Given the description of an element on the screen output the (x, y) to click on. 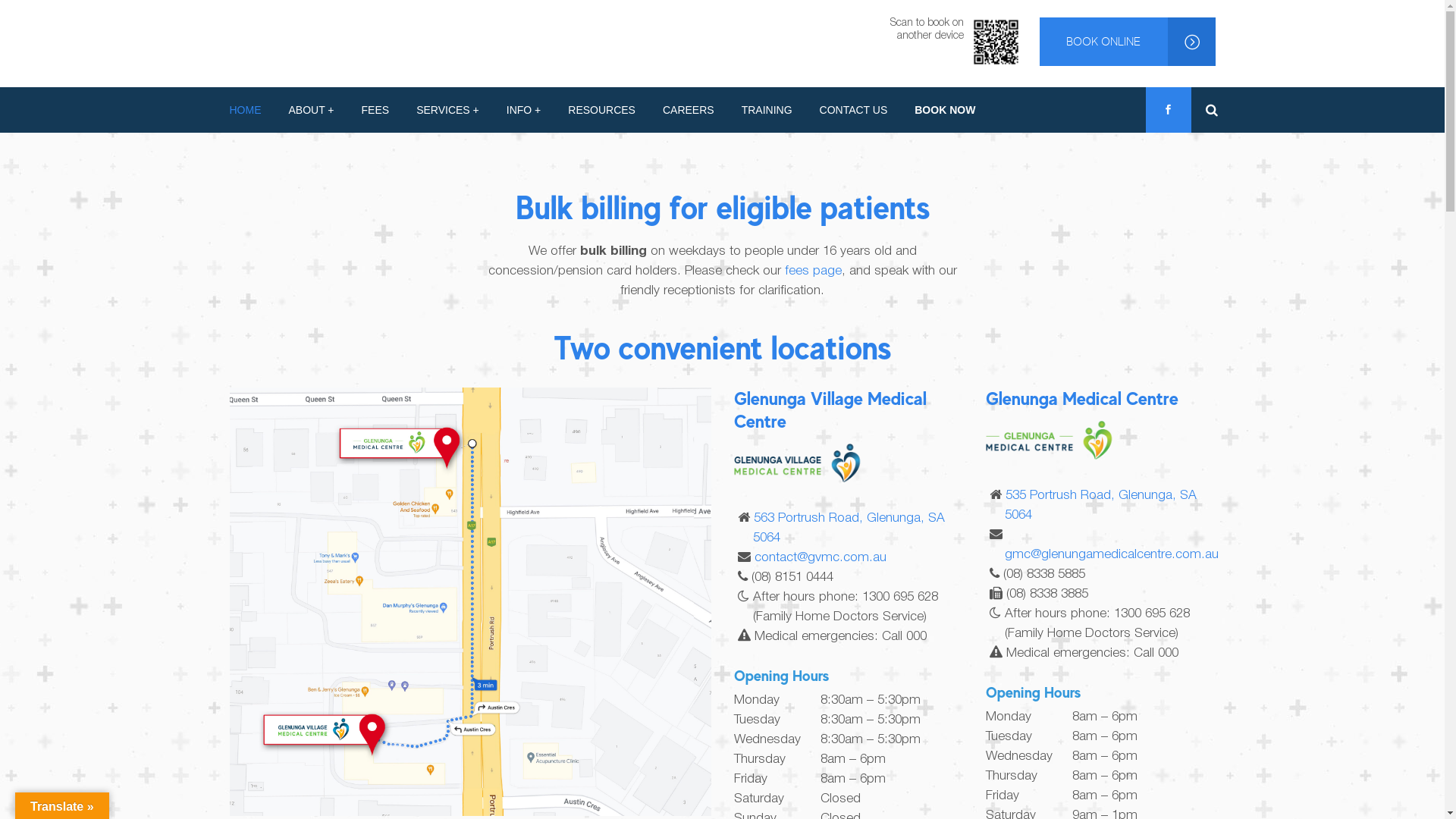
RESOURCES Element type: text (601, 109)
HOME Element type: text (251, 109)
SERVICES + Element type: text (447, 109)
CAREERS Element type: text (688, 109)
ABOUT + Element type: text (310, 109)
map Element type: hover (469, 601)
TRAINING Element type: text (767, 109)
BOOK NOW Element type: text (944, 109)
gmc@glenungamedicalcentre.com.au Element type: text (1111, 554)
BOOK ONLINE Element type: text (1126, 41)
535 Portrush Road, Glenunga, SA 5064 Element type: text (1100, 504)
gmc-left-updated Element type: hover (1053, 441)
INFO + Element type: text (523, 109)
FEES Element type: text (375, 109)
gvmc-left Element type: hover (802, 463)
fees page Element type: text (812, 270)
contact@gvmc.com.au Element type: text (819, 557)
CONTACT US Element type: text (853, 109)
563 Portrush Road, Glenunga, SA 5064 Element type: text (848, 527)
